Given the description of an element on the screen output the (x, y) to click on. 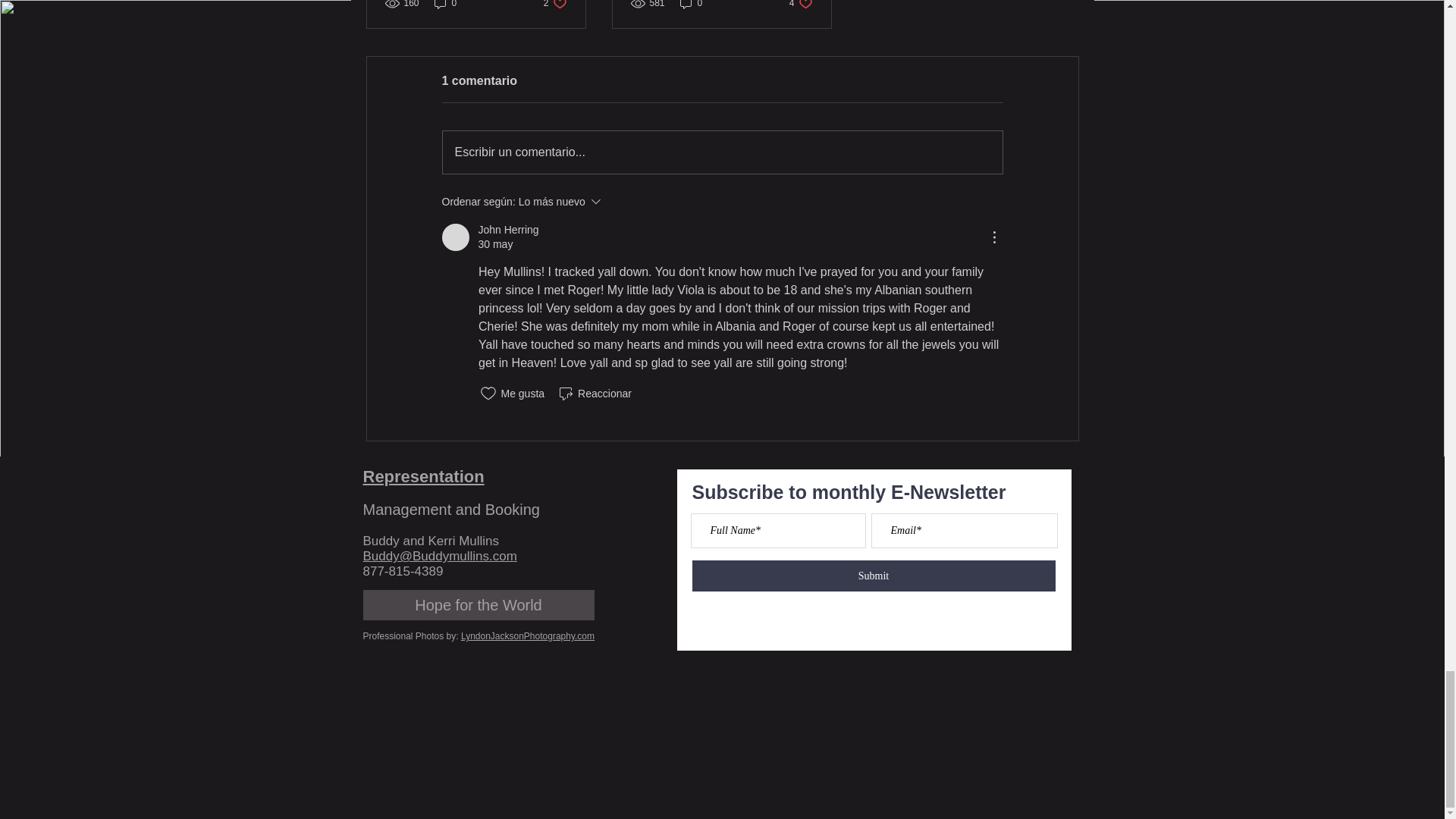
Reaccionar (593, 393)
John Herring (800, 5)
John Herring (555, 5)
0 (507, 229)
Escribir un comentario... (454, 236)
LyndonJacksonPhotography.com (691, 5)
Hope for the World (722, 152)
0 (527, 635)
